Given the description of an element on the screen output the (x, y) to click on. 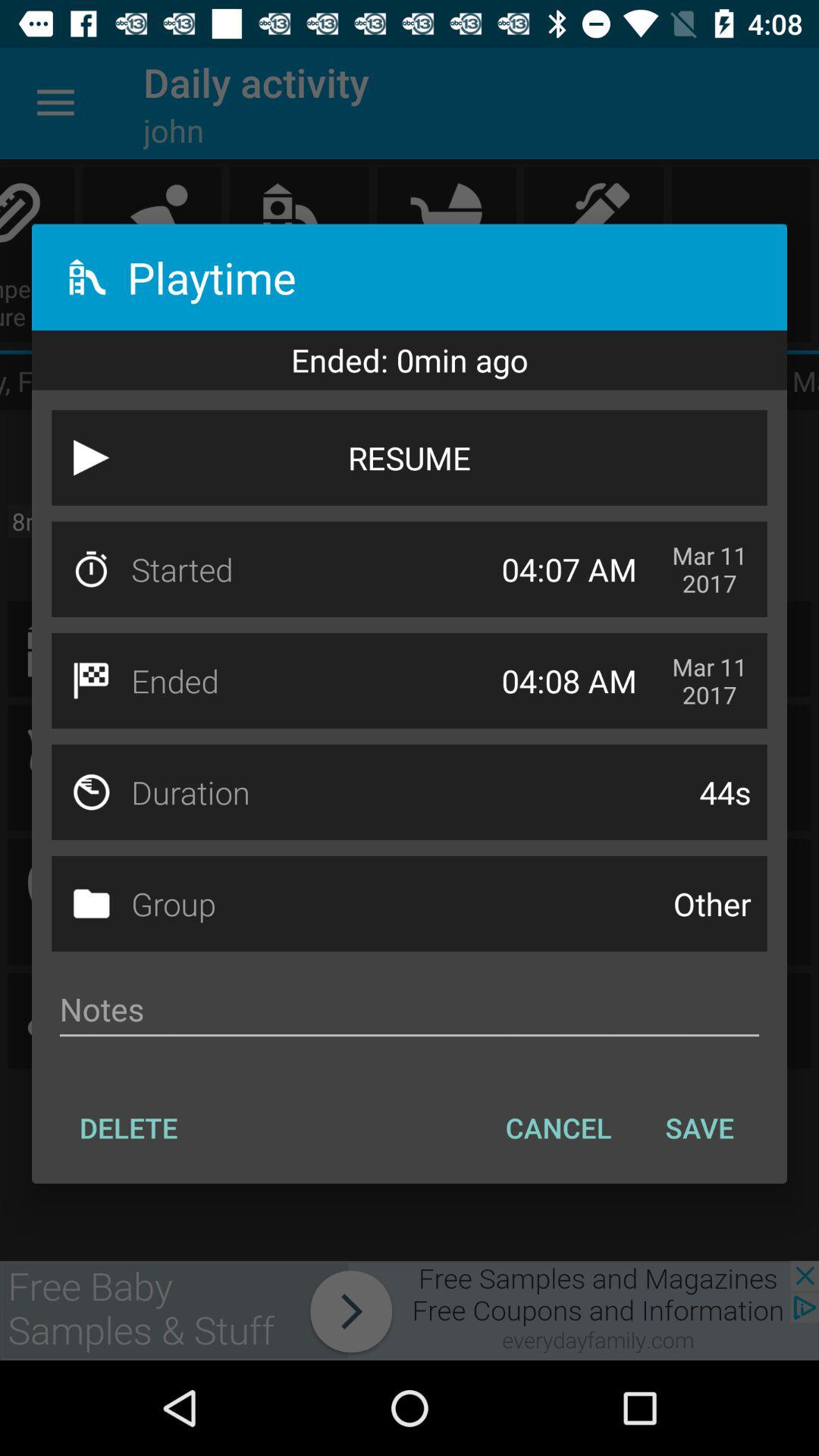
add notes (409, 1009)
